Given the description of an element on the screen output the (x, y) to click on. 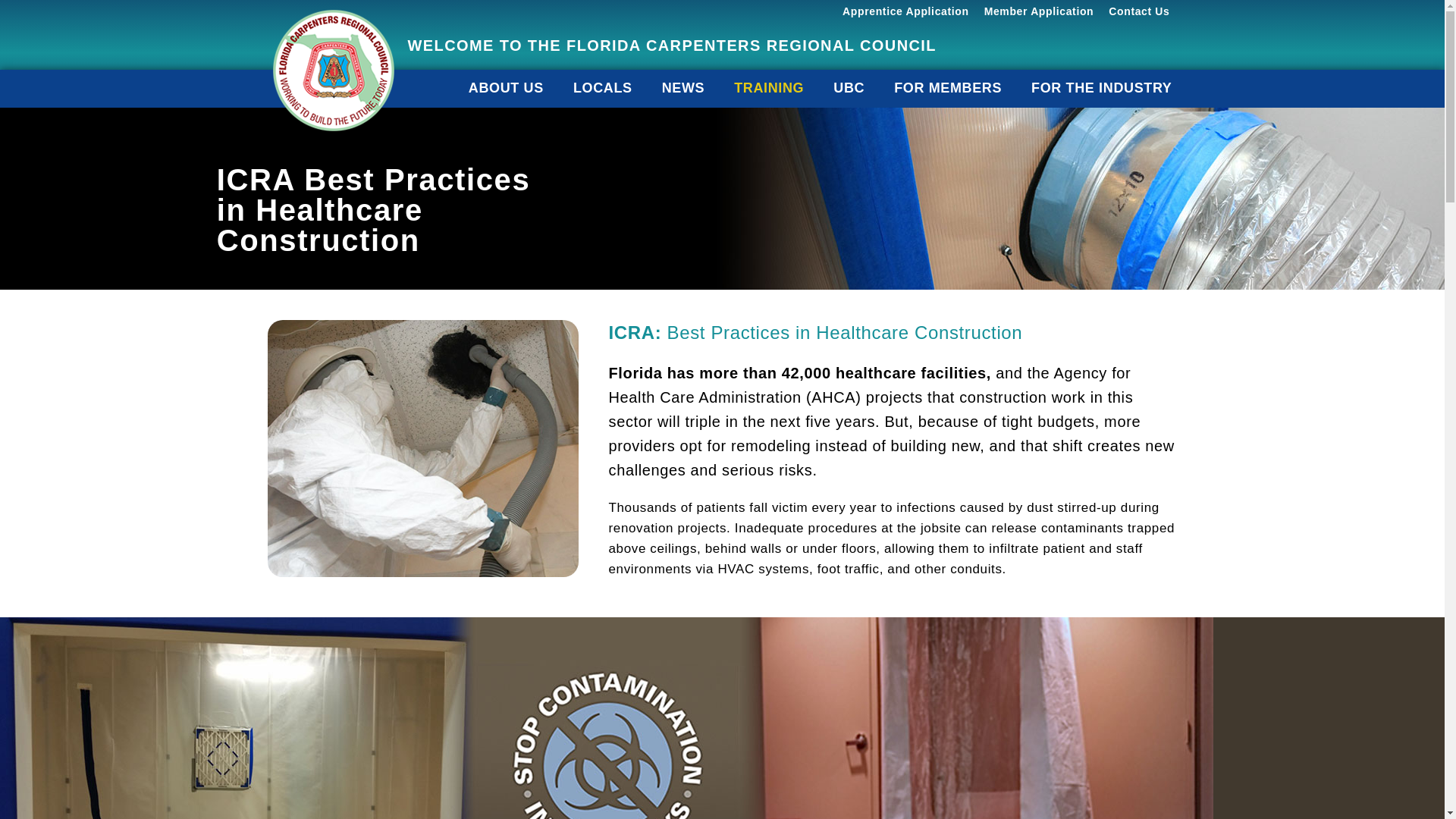
TRAINING (769, 88)
ICRA (422, 448)
ABOUT US (505, 88)
Apprentice Application (906, 10)
Florida Carpenters Regional Council (332, 70)
LOCALS (602, 88)
Member Application (1039, 10)
FOR THE INDUSTRY (1101, 88)
Contact Us (1138, 10)
NEWS (683, 88)
UBC (848, 88)
FOR MEMBERS (947, 88)
